Given the description of an element on the screen output the (x, y) to click on. 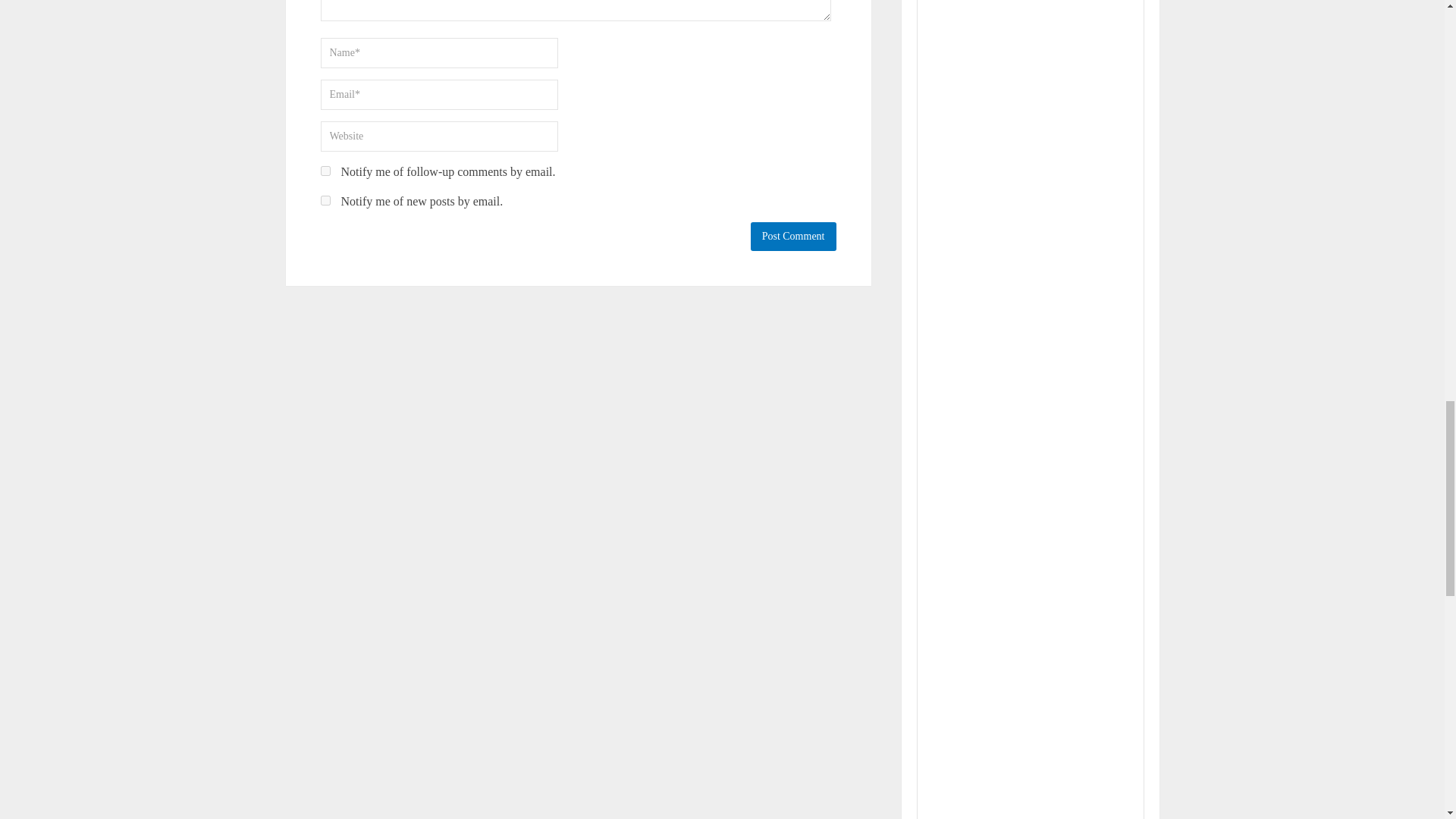
subscribe (325, 200)
subscribe (325, 171)
Post Comment (793, 235)
